Given the description of an element on the screen output the (x, y) to click on. 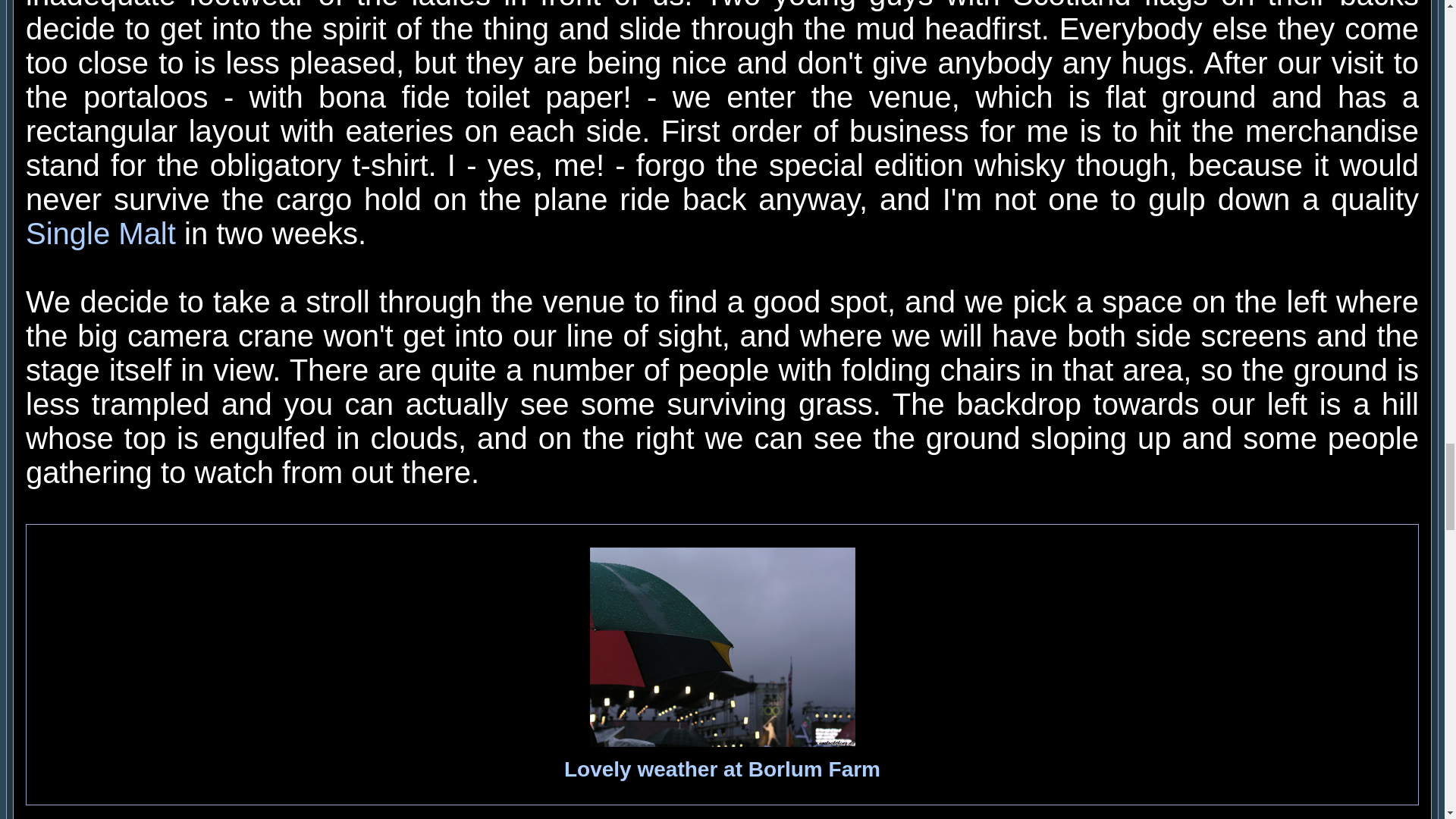
Single Malt (101, 233)
